Given the description of an element on the screen output the (x, y) to click on. 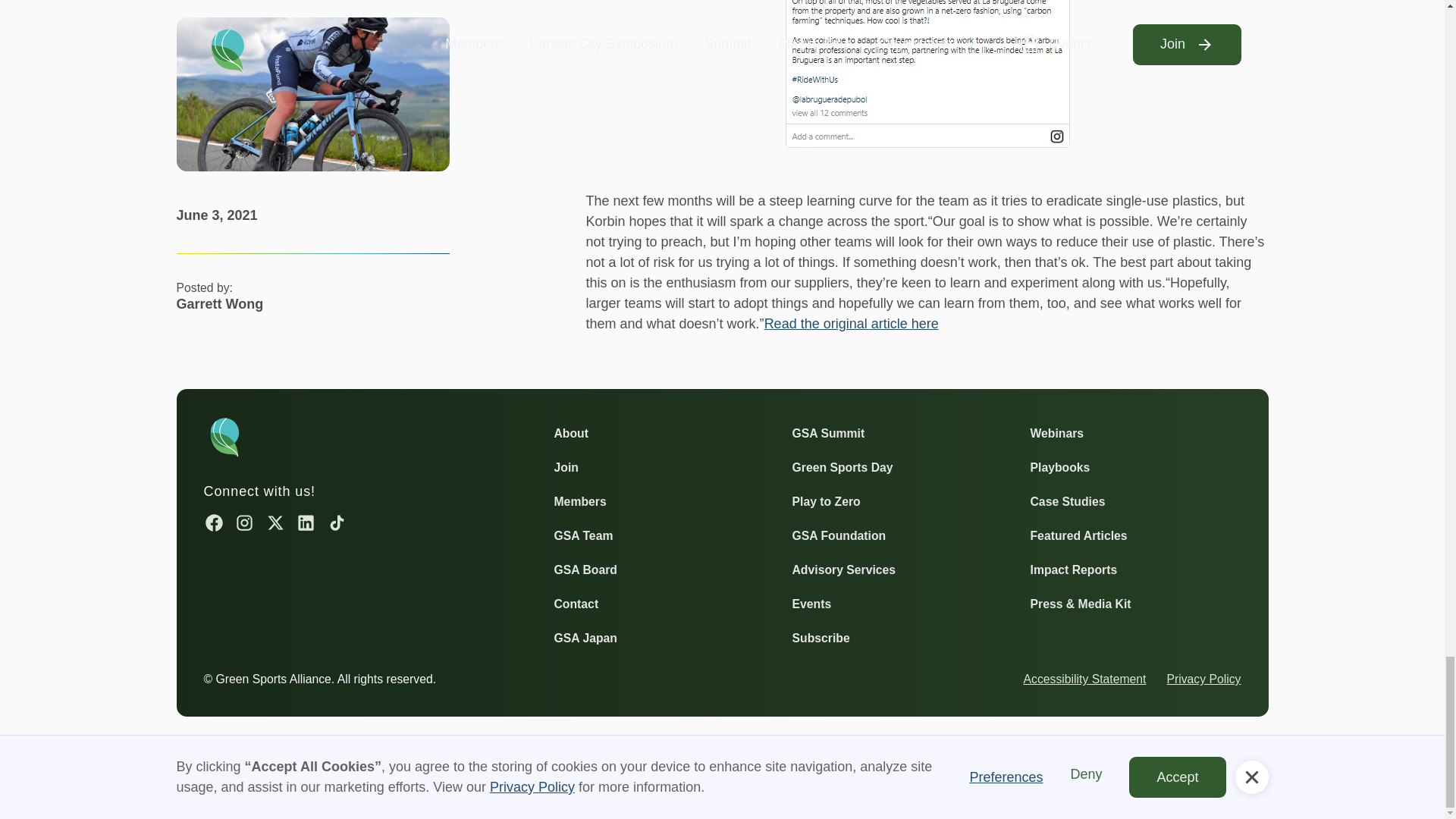
Join (565, 467)
About (570, 433)
Read the original article here (851, 323)
